Given the description of an element on the screen output the (x, y) to click on. 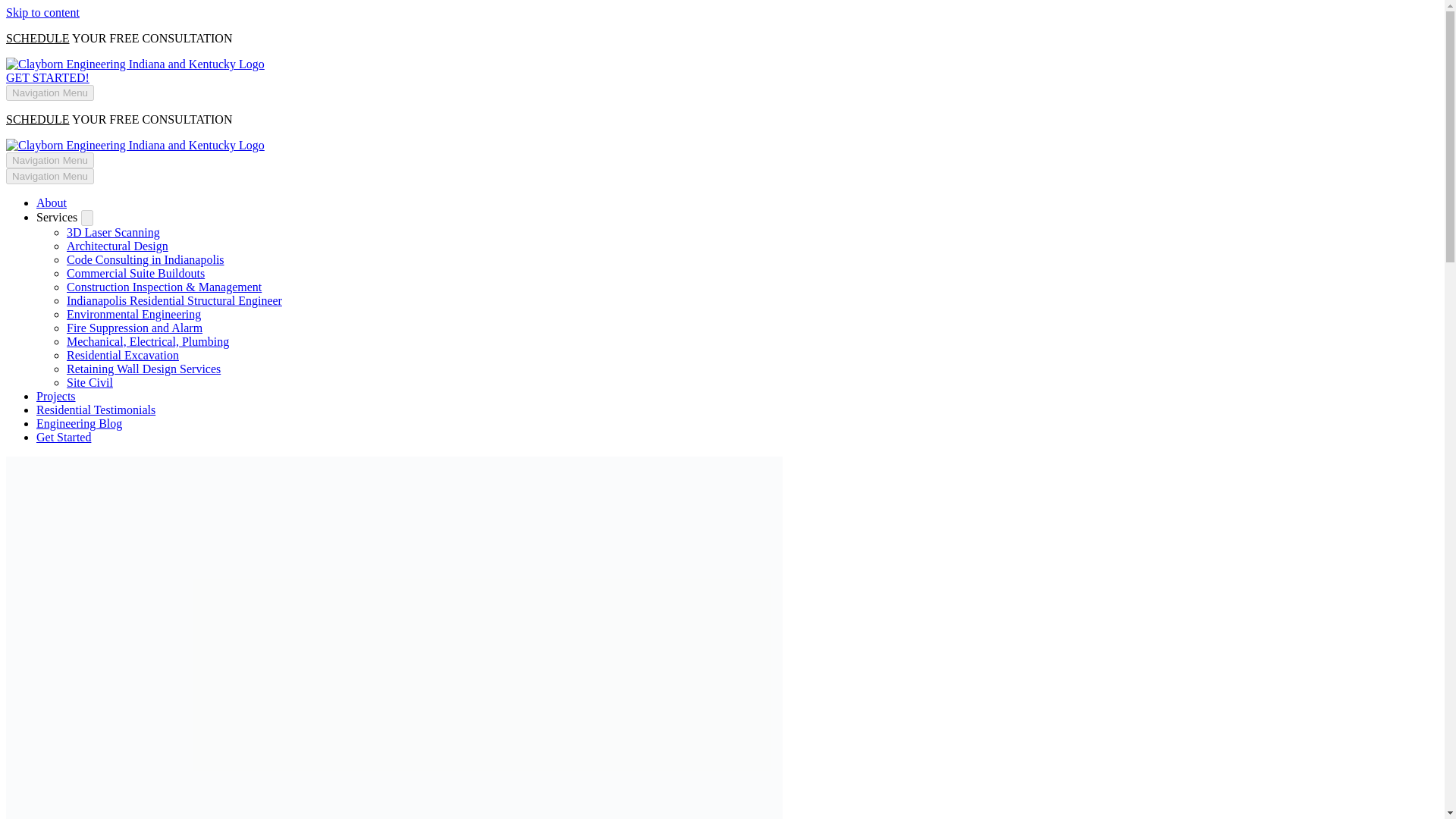
Fire Suppression and Alarm (134, 327)
Site Civil (89, 382)
About (51, 202)
Residential Testimonials (95, 409)
Skip to content (42, 11)
Code Consulting in Indianapolis (145, 259)
SCHEDULE YOUR FREE CONSULTATION (118, 38)
GET STARTED! (46, 77)
Navigation Menu (49, 176)
Commercial Suite Buildouts (135, 273)
Engineering Blog (79, 422)
3D Laser Scanning (113, 232)
Architectural Design (117, 245)
Services (56, 216)
Retaining Wall Design Services (143, 368)
